Given the description of an element on the screen output the (x, y) to click on. 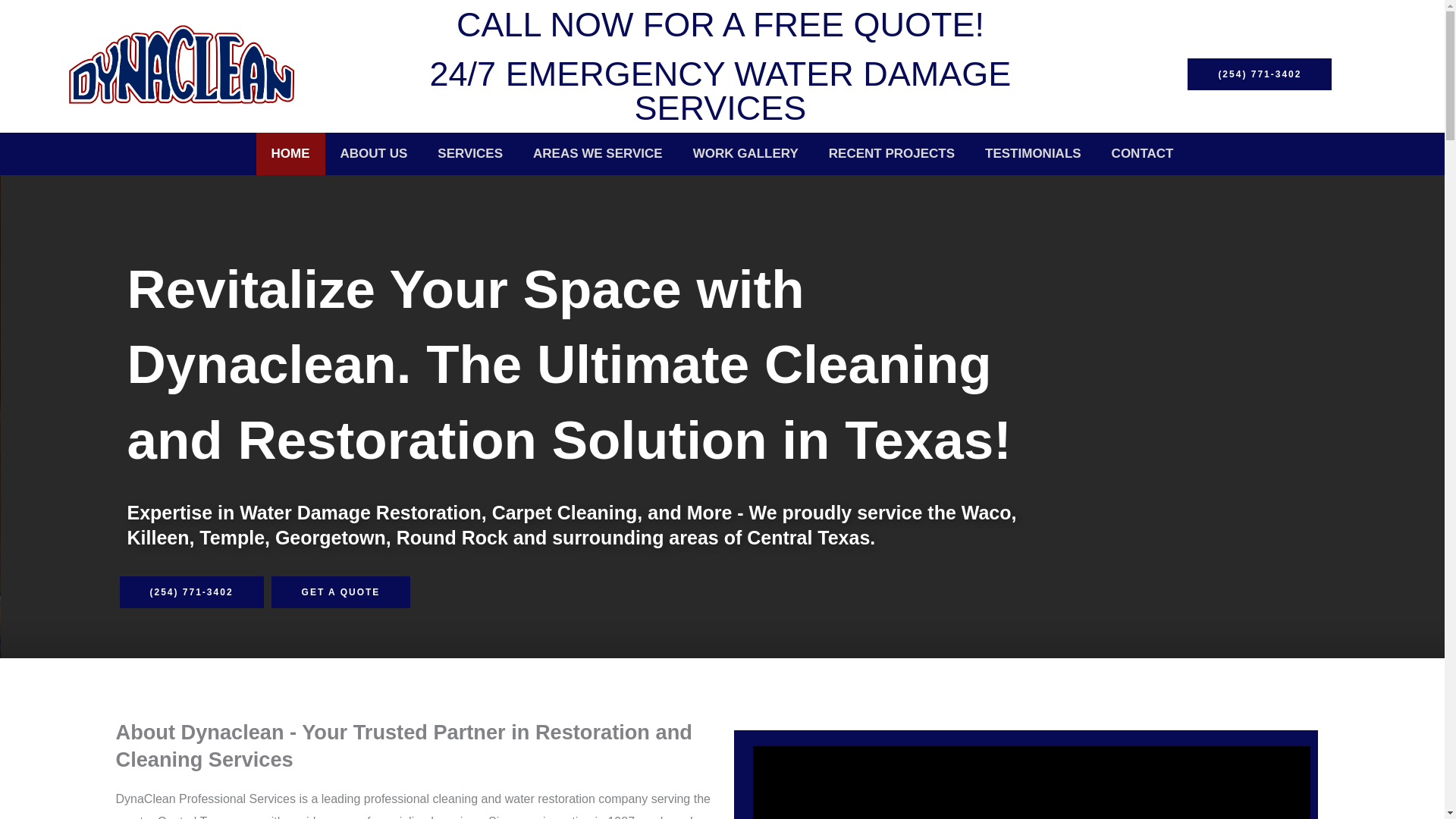
ABOUT US (373, 153)
SERVICES (470, 153)
HOME (290, 153)
CONTACT (1142, 153)
AREAS WE SERVICE (598, 153)
TESTIMONIALS (1032, 153)
WORK GALLERY (745, 153)
RECENT PROJECTS (891, 153)
vimeo Video Player (1030, 782)
